Given the description of an element on the screen output the (x, y) to click on. 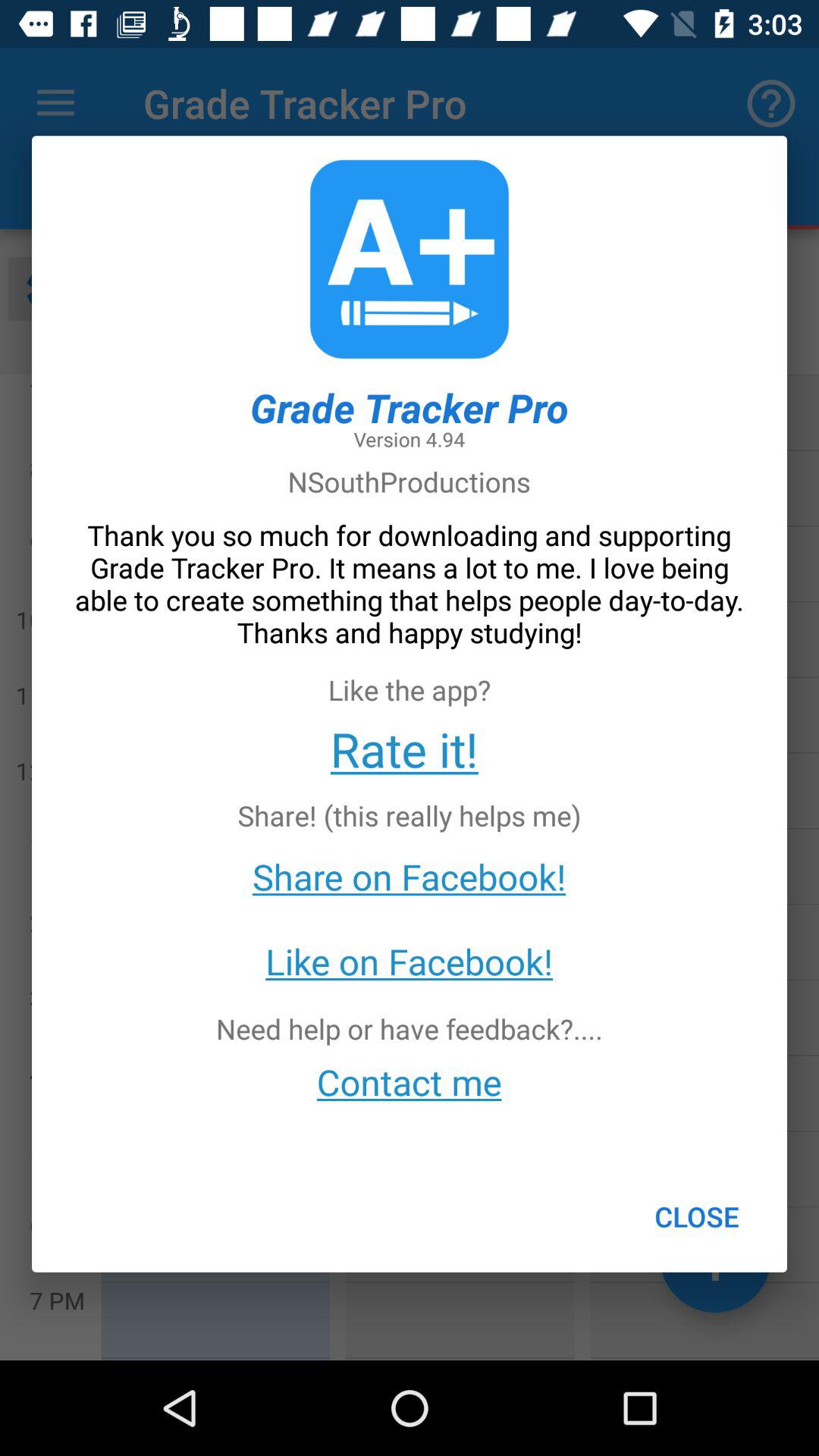
tap the item below the rate it! (696, 1216)
